Given the description of an element on the screen output the (x, y) to click on. 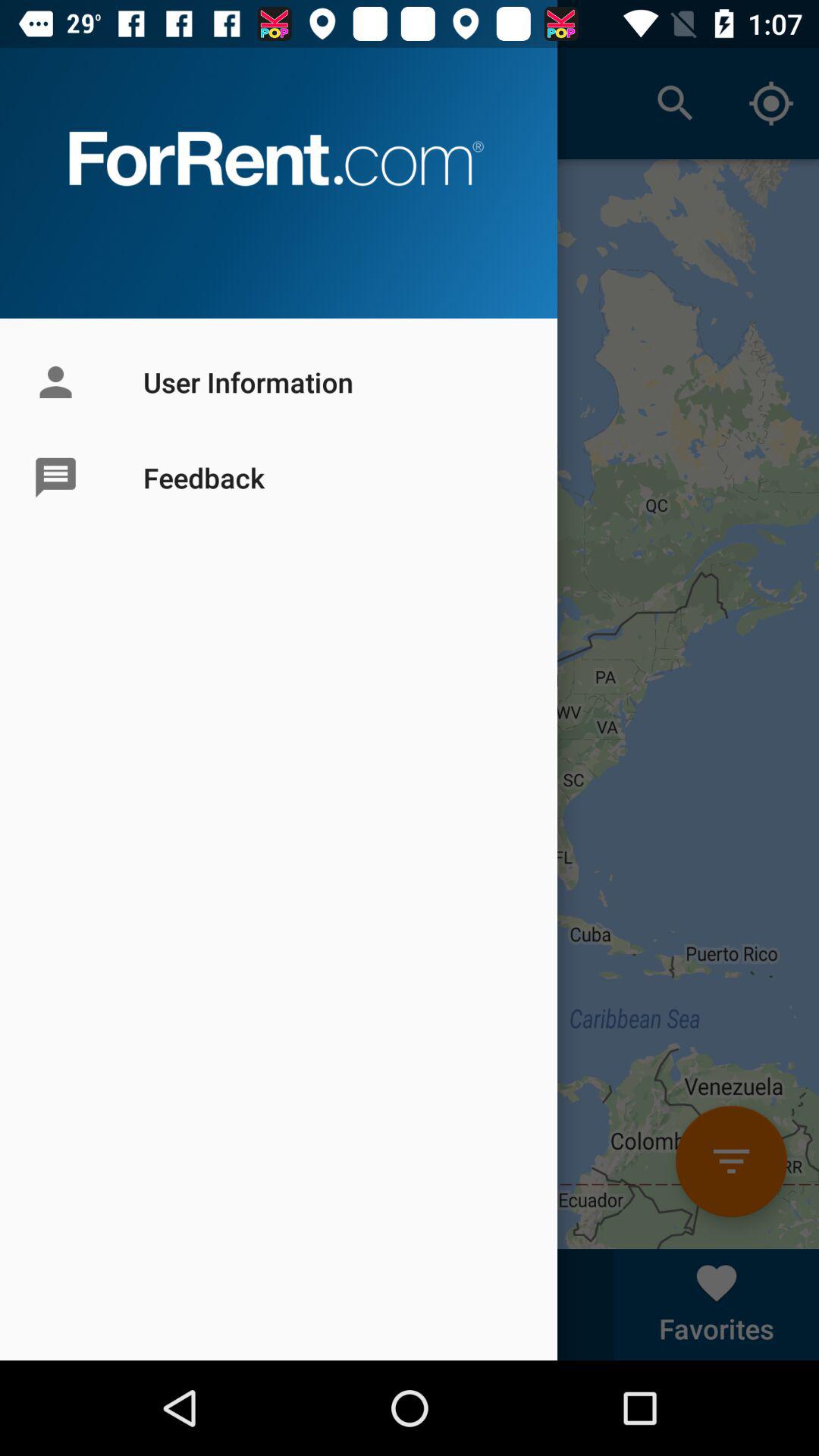
wi if (731, 1161)
